Given the description of an element on the screen output the (x, y) to click on. 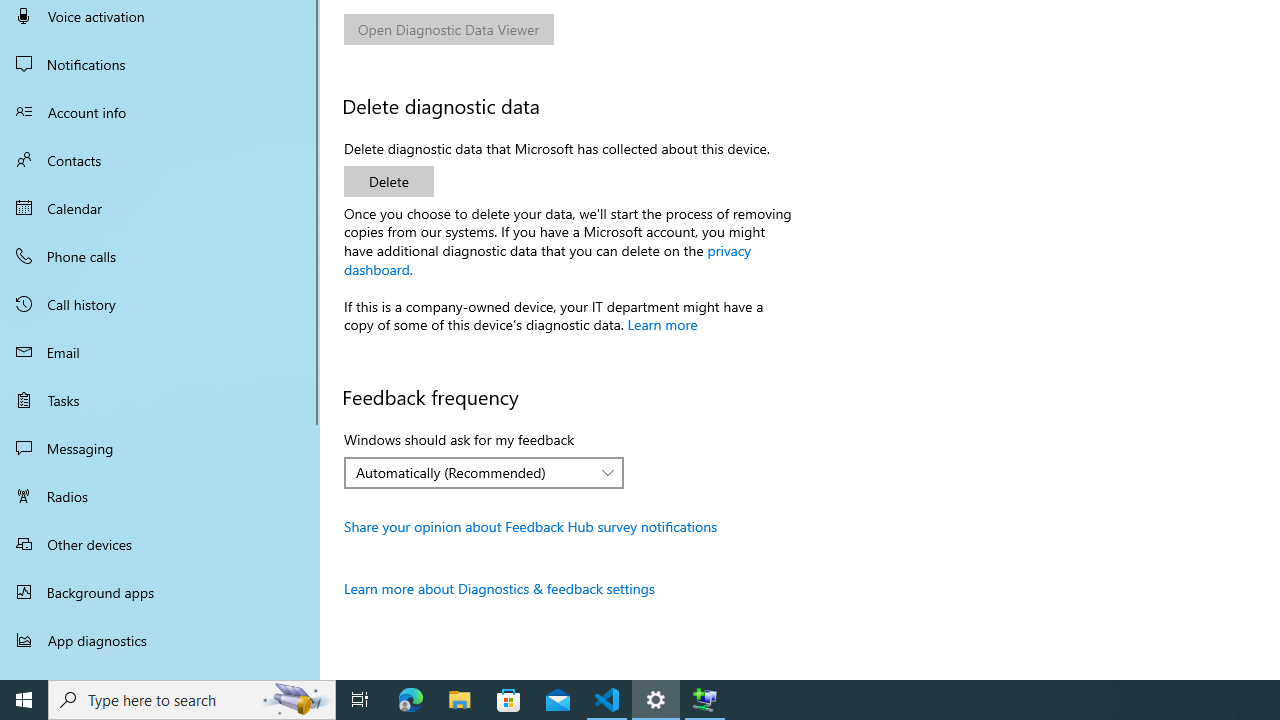
Calendar (160, 207)
